Given the description of an element on the screen output the (x, y) to click on. 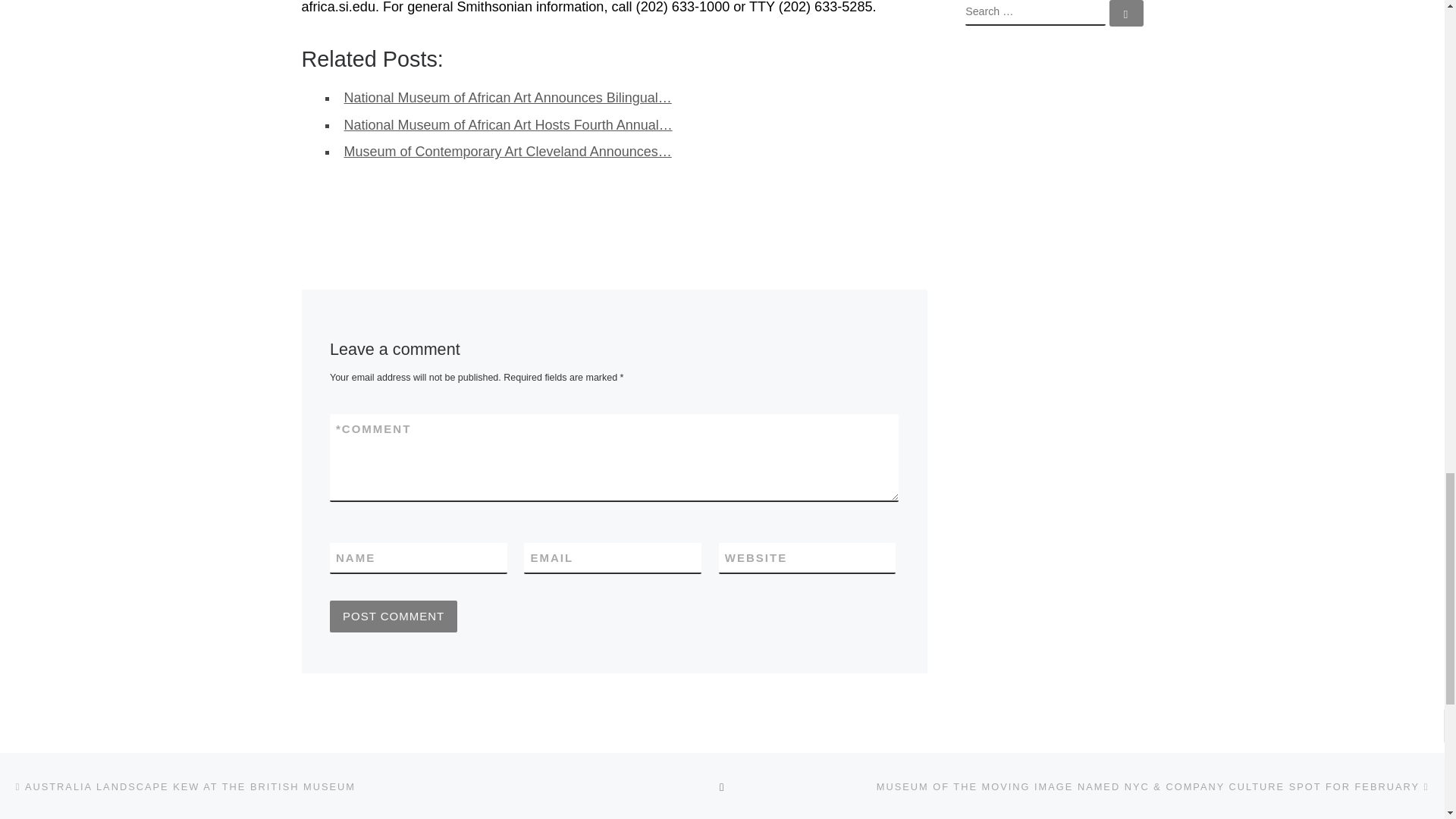
AUSTRALIA LANDSCAPE KEW AT THE BRITISH MUSEUM (183, 786)
Post Comment (393, 616)
Post Comment (393, 616)
